Given the description of an element on the screen output the (x, y) to click on. 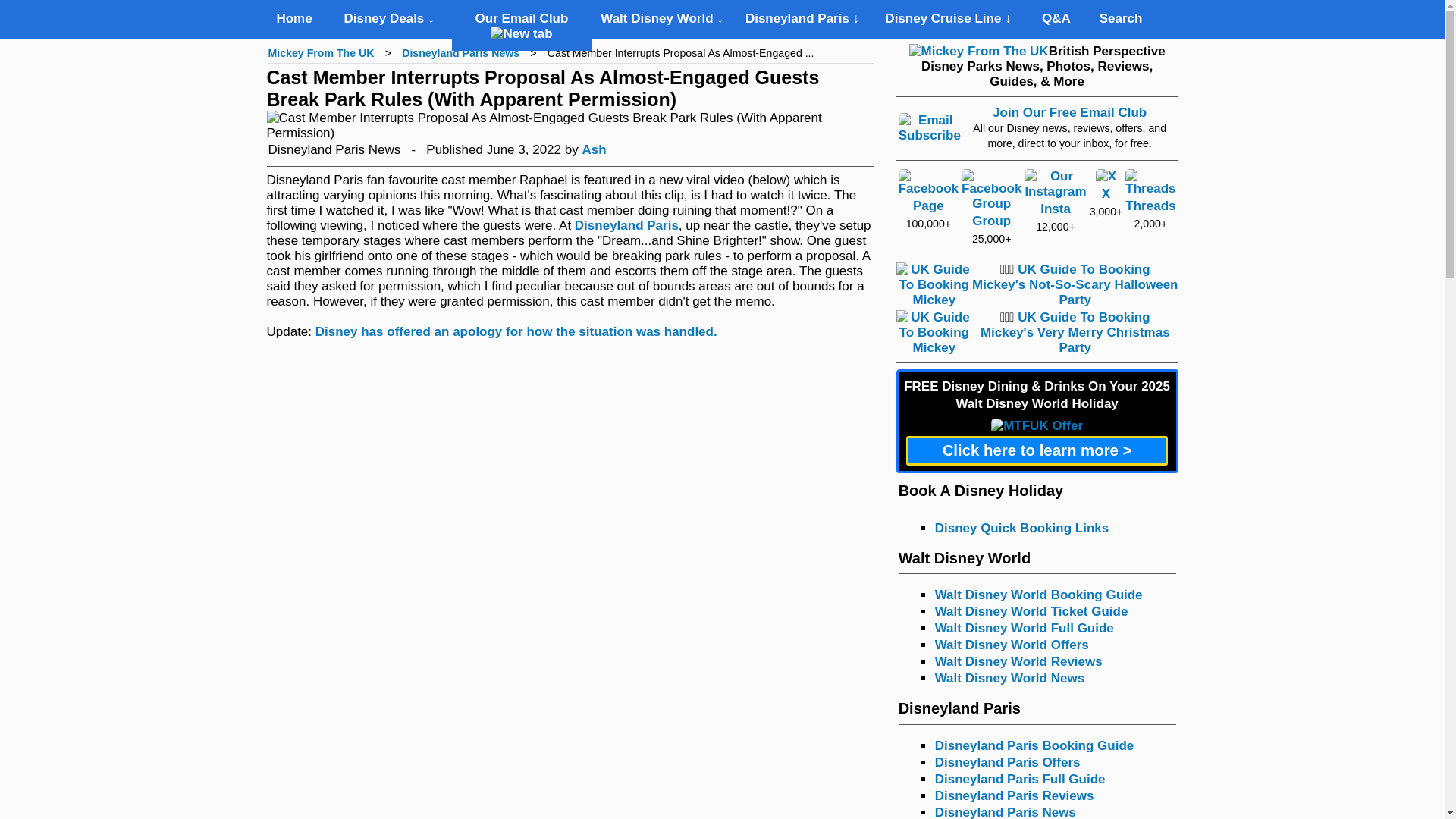
Ash (592, 149)
Disneyland Paris News (460, 52)
Mickey From The UK (320, 52)
Our Email Club (521, 26)
Mickey From The UK (294, 19)
New Tab (520, 33)
Mickey From The UK Search (1121, 19)
Search (1121, 19)
Mickey From The UK (320, 52)
Disney Parks Questions (1055, 19)
Home (294, 19)
Disneyland Paris (626, 225)
Walt Disney World Deals Offers And Discounts (388, 19)
